Given the description of an element on the screen output the (x, y) to click on. 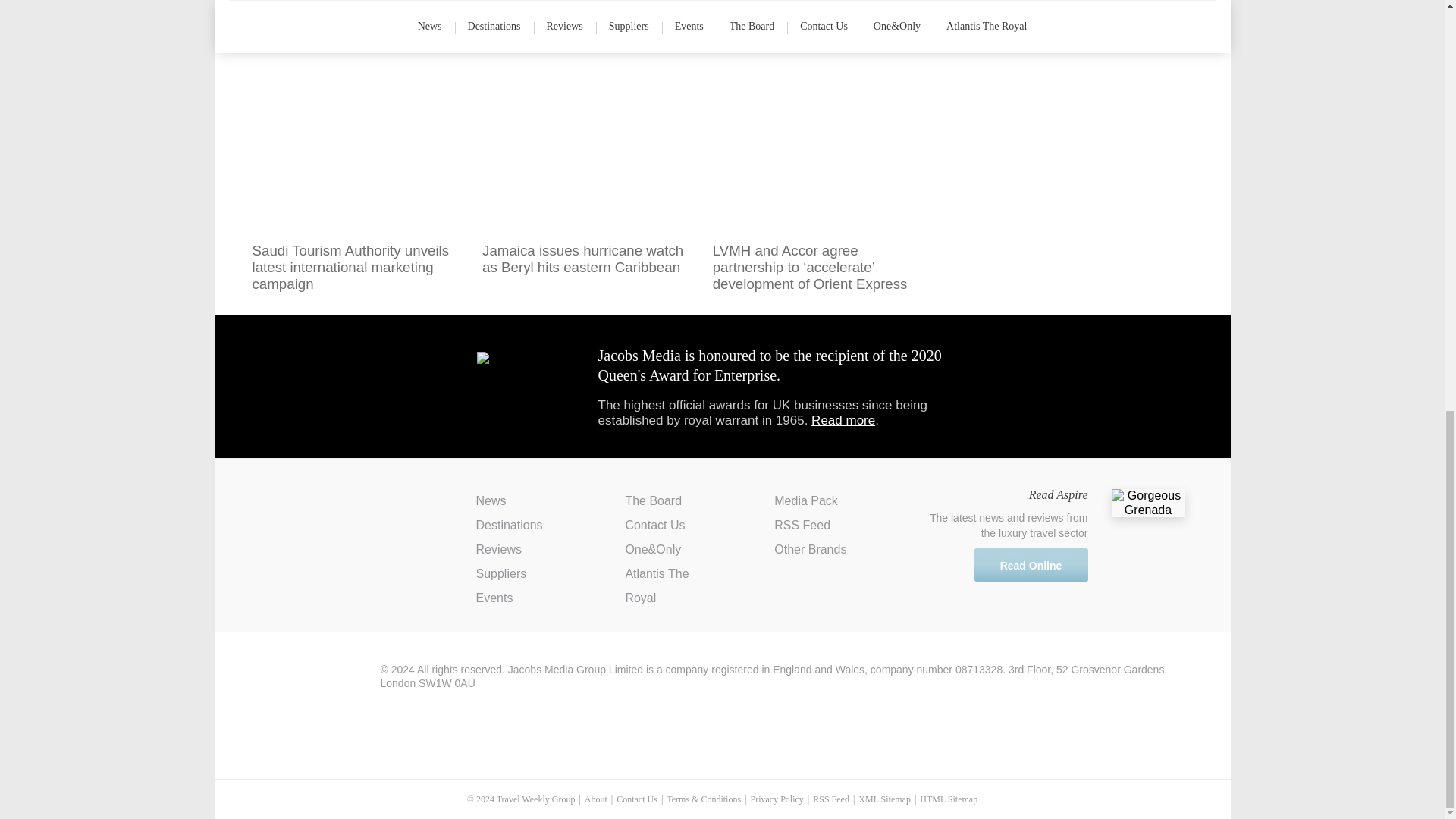
News (491, 500)
Destinations (509, 524)
Read more (842, 420)
Aspire - The Luxury Travel Club from Travel Weekly (322, 512)
